Given the description of an element on the screen output the (x, y) to click on. 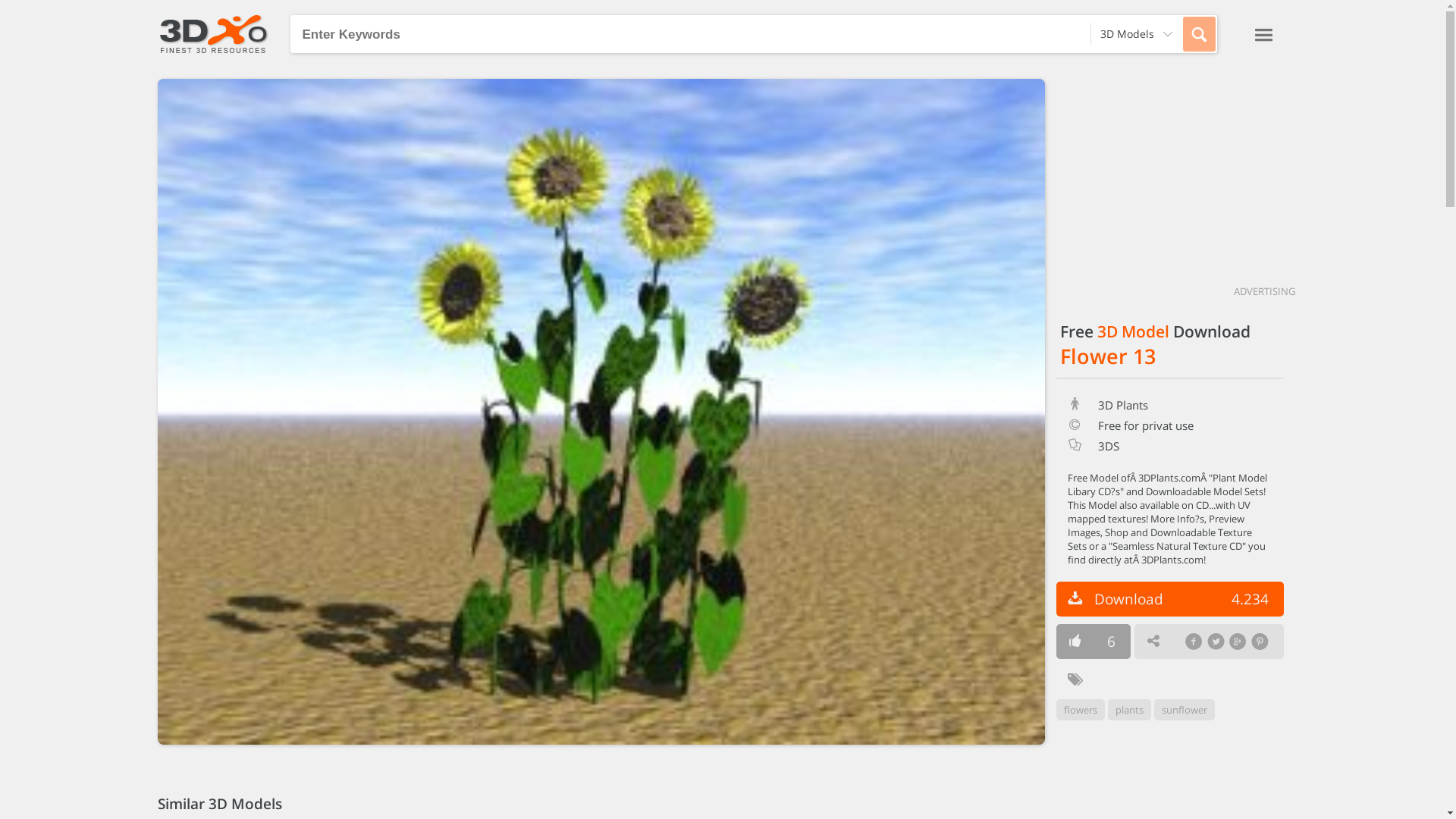
License Element type: hover (1074, 424)
flowers Element type: text (1079, 709)
Flower 13 Element type: text (1107, 356)
sunflower Element type: text (1184, 709)
plants Element type: text (1128, 709)
Author Element type: hover (1074, 404)
Advertisement Element type: hover (1169, 174)
File Type Element type: hover (1074, 445)
3D Model Element type: text (1132, 331)
